Given the description of an element on the screen output the (x, y) to click on. 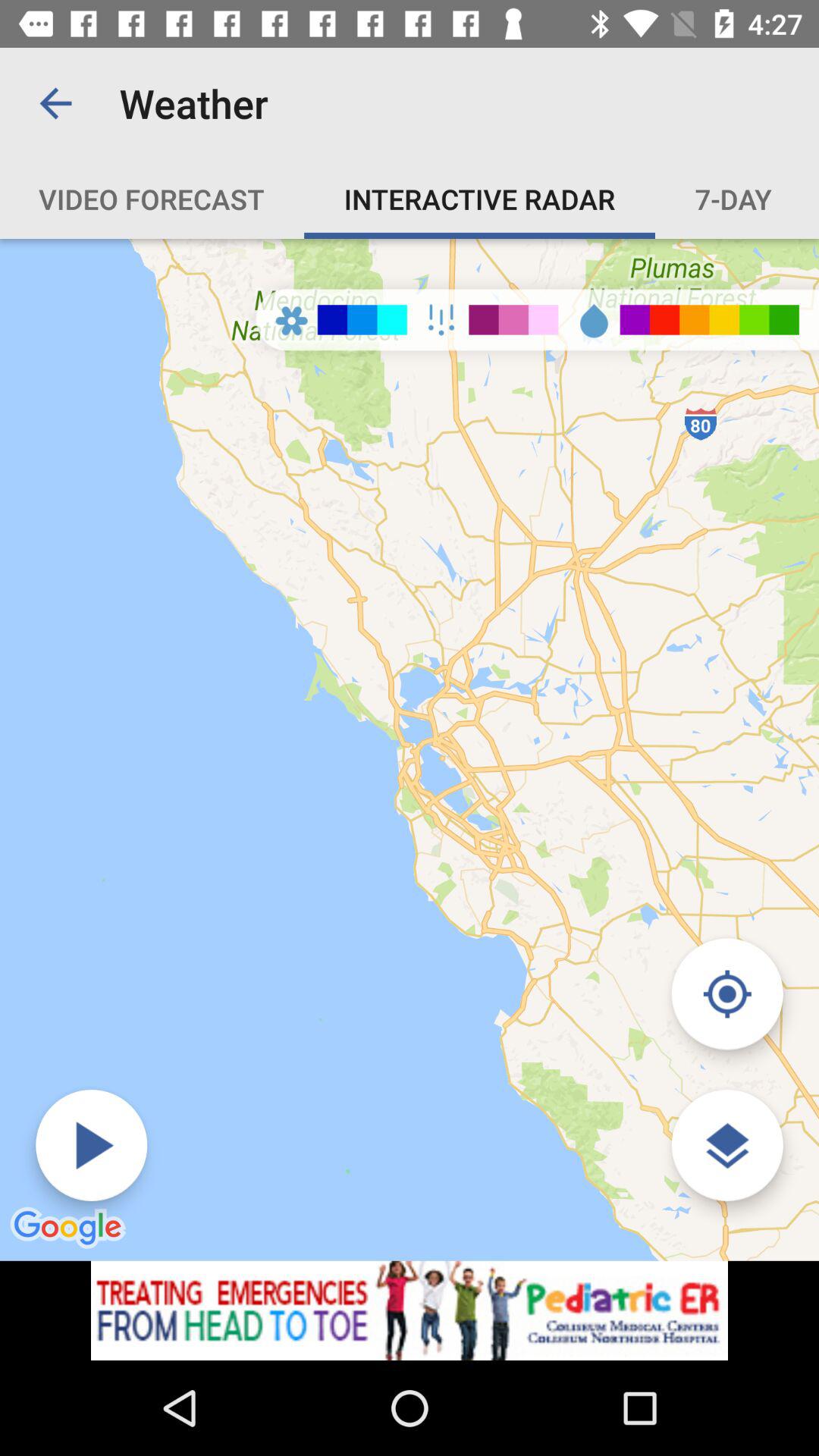
find location (727, 1145)
